Given the description of an element on the screen output the (x, y) to click on. 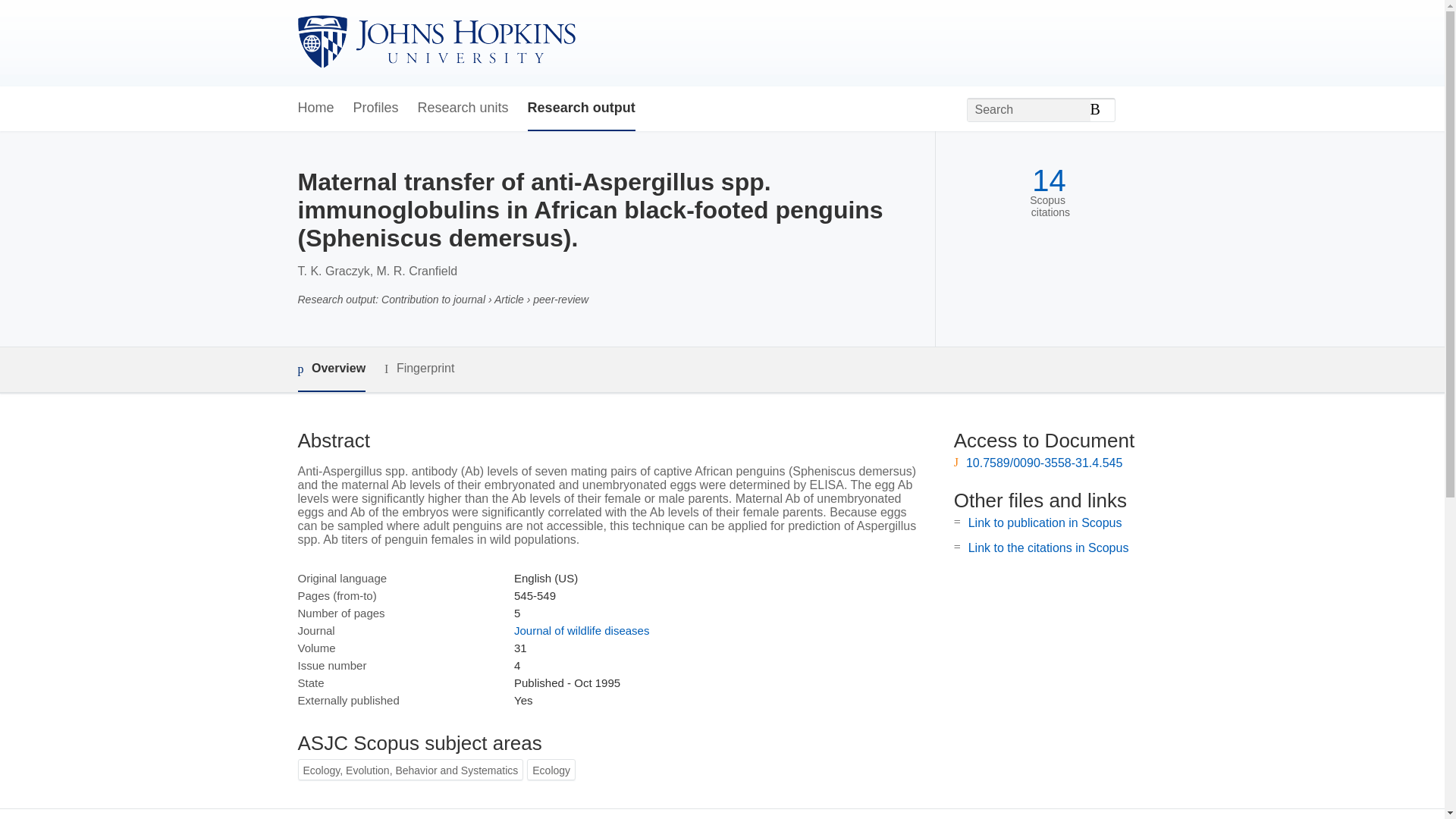
Fingerprint (419, 368)
Link to publication in Scopus (1045, 522)
Johns Hopkins University Home (436, 43)
14 (1048, 180)
Link to the citations in Scopus (1048, 547)
Overview (331, 369)
Research output (580, 108)
Home (315, 108)
Journal of wildlife diseases (581, 630)
Profiles (375, 108)
Research units (462, 108)
